Given the description of an element on the screen output the (x, y) to click on. 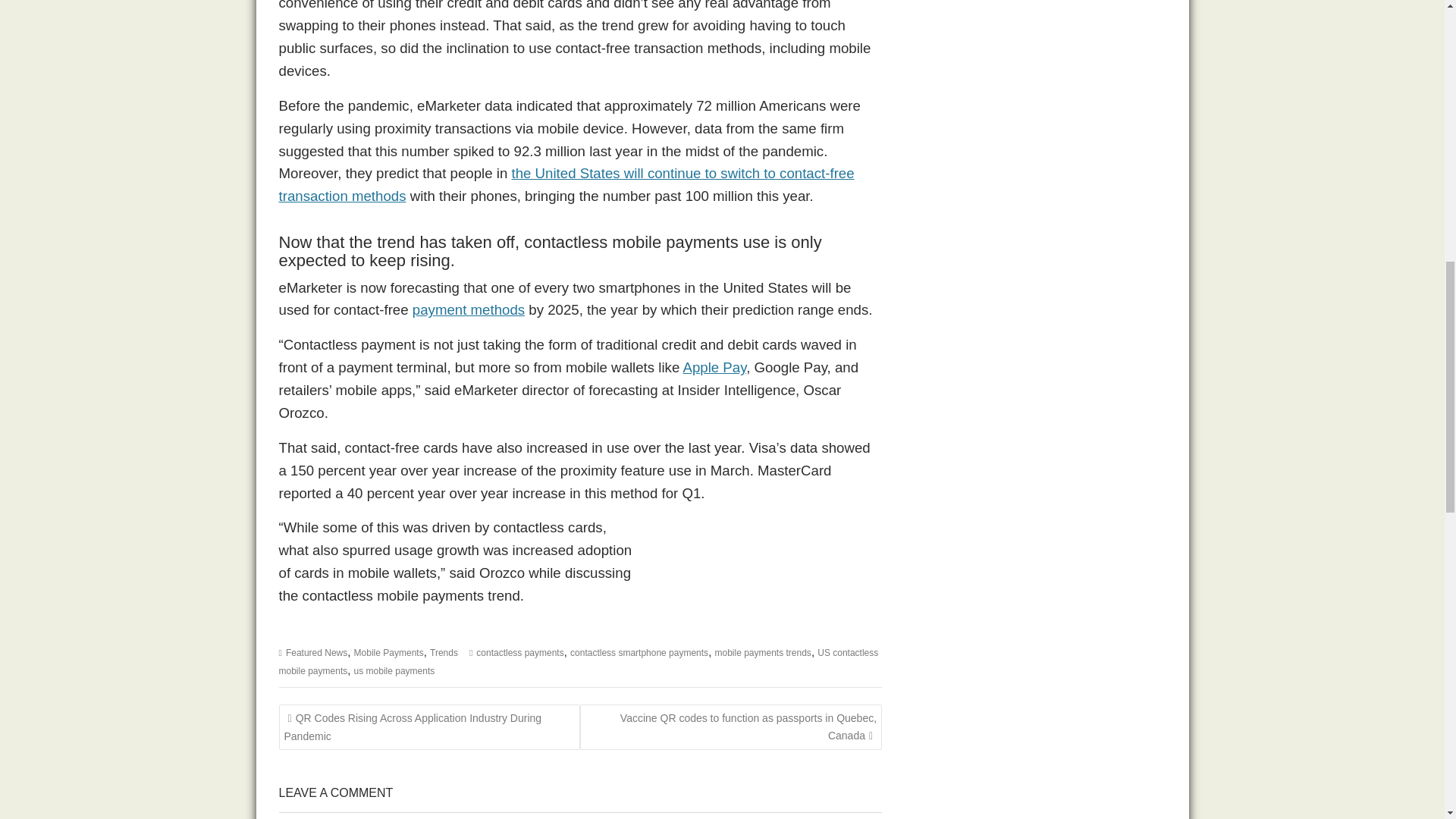
Contactless mobile payments - Image of Google Pay (767, 579)
